Given the description of an element on the screen output the (x, y) to click on. 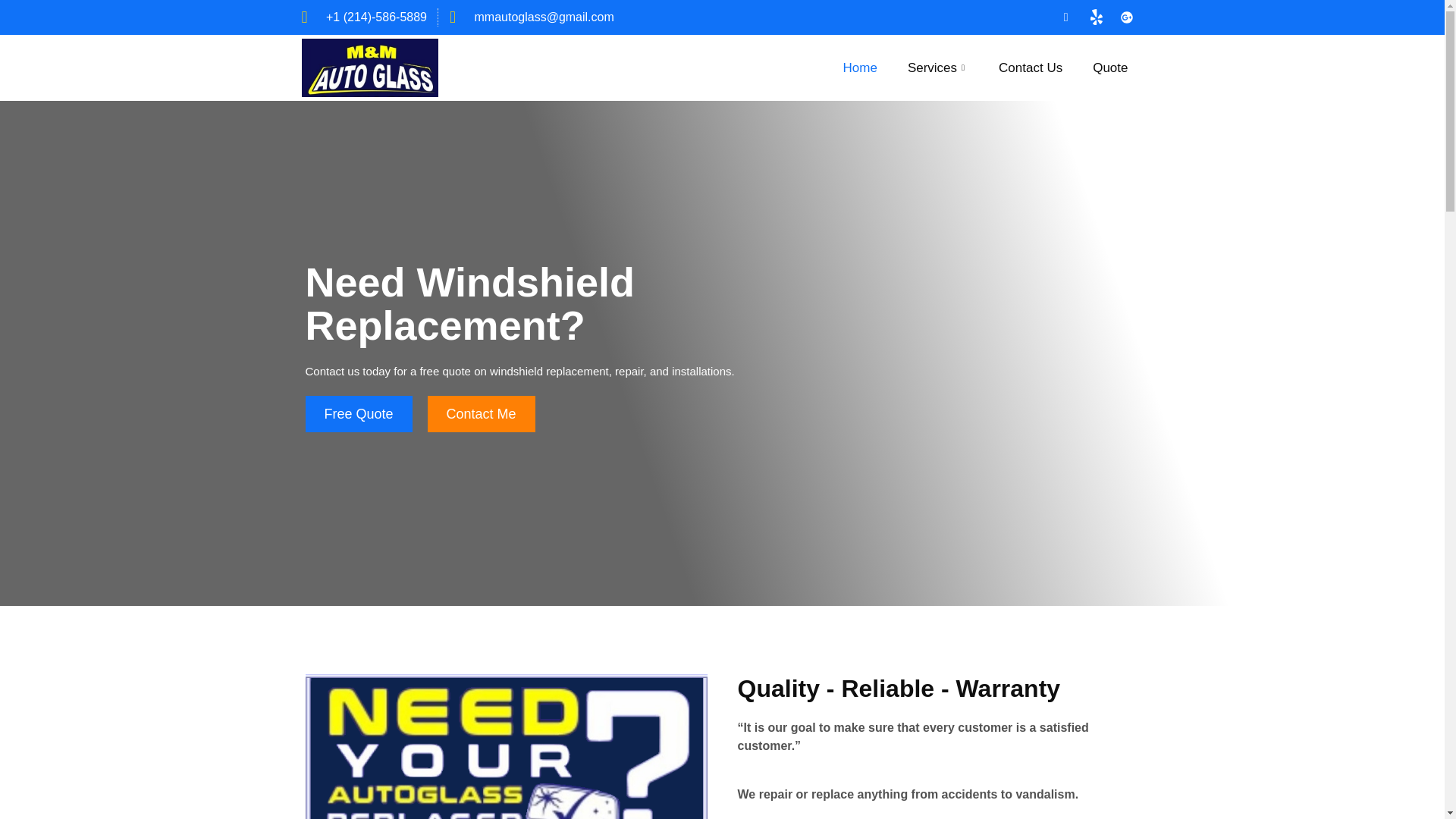
Free Quote (358, 413)
Home (860, 67)
Contact Us (1030, 67)
Quote (1109, 67)
Services (938, 67)
Contact Me (481, 413)
